Given the description of an element on the screen output the (x, y) to click on. 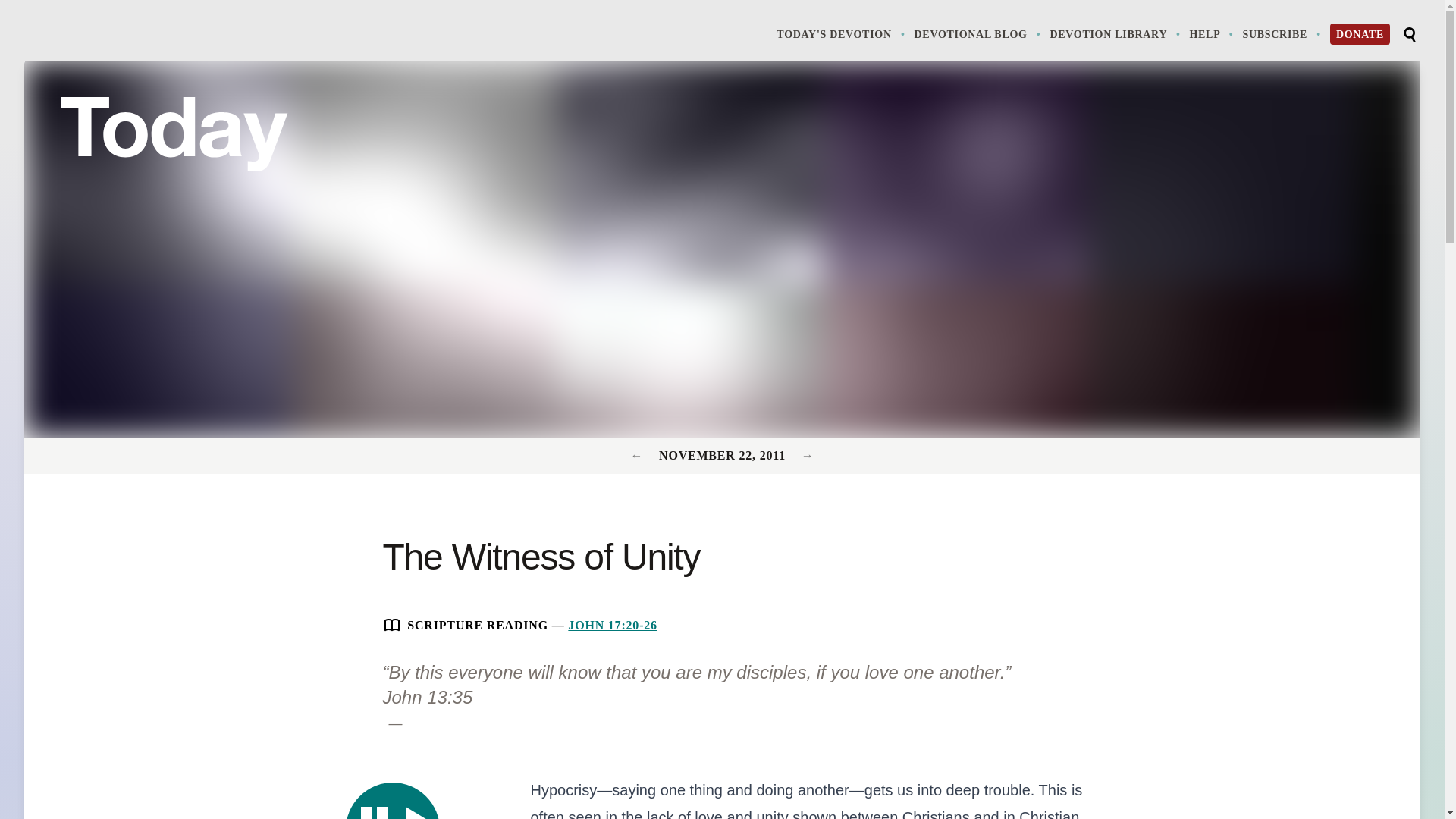
DEVOTIONAL BLOG (978, 34)
TODAY'S DEVOTION (841, 34)
JOHN 17:20-26 (612, 625)
Search (392, 800)
HELP (1409, 34)
SUBSCRIBE (1212, 34)
DEVOTION LIBRARY (1282, 34)
Previous Devotion: November 22, 2011 (1115, 34)
Previous Devotion: November 21, 2011 (807, 454)
DONATE (638, 454)
